Given the description of an element on the screen output the (x, y) to click on. 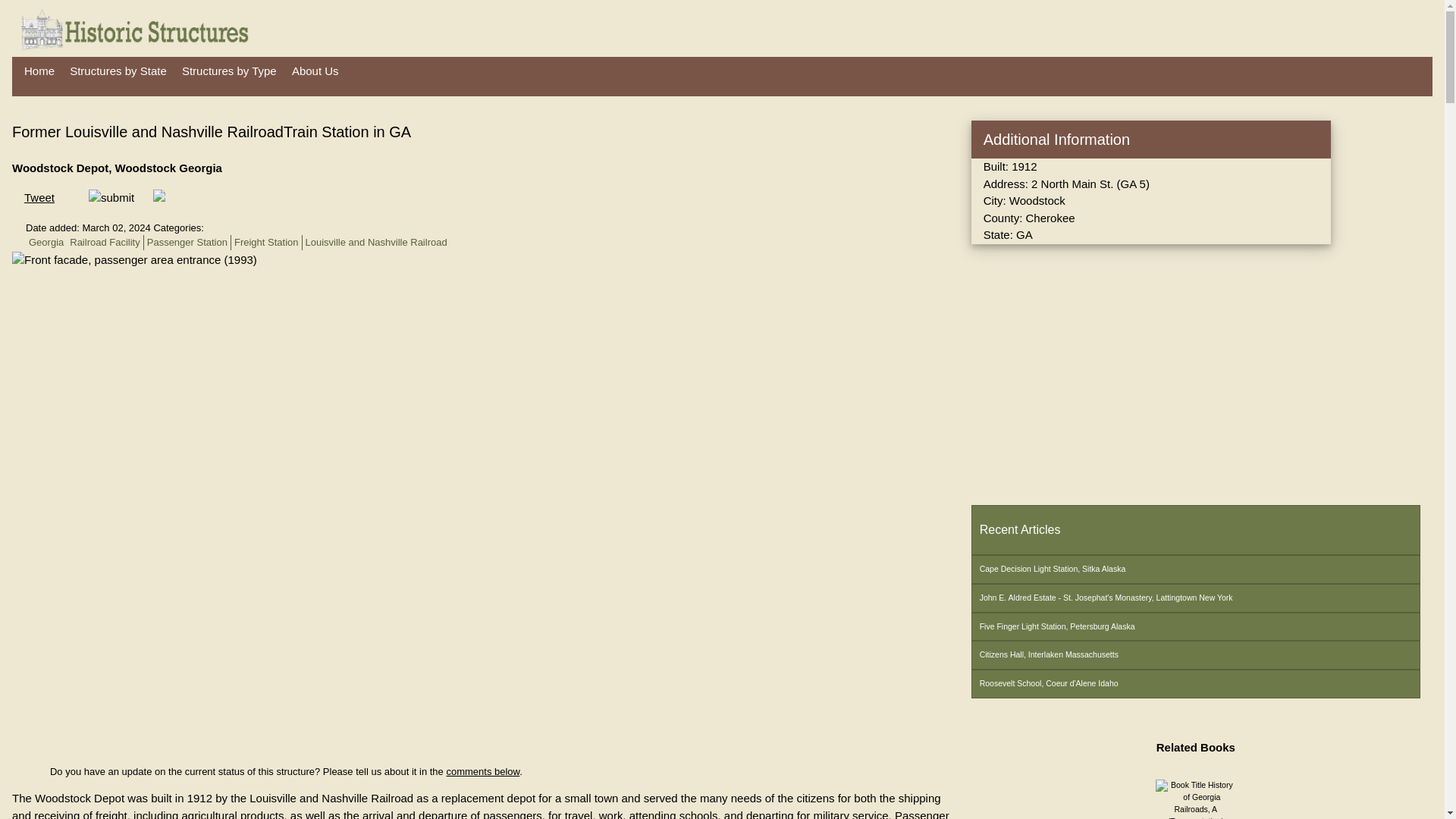
Roosevelt School, Coeur d'Alene Idaho (1196, 683)
Cape Decision Light Station, Sitka Alaska (1196, 569)
Five Finger Light Station, Petersburg Alaska (1196, 626)
Structures by State (118, 70)
Home (39, 71)
Citizens Hall, Interlaken Massachusetts (1196, 654)
